Given the description of an element on the screen output the (x, y) to click on. 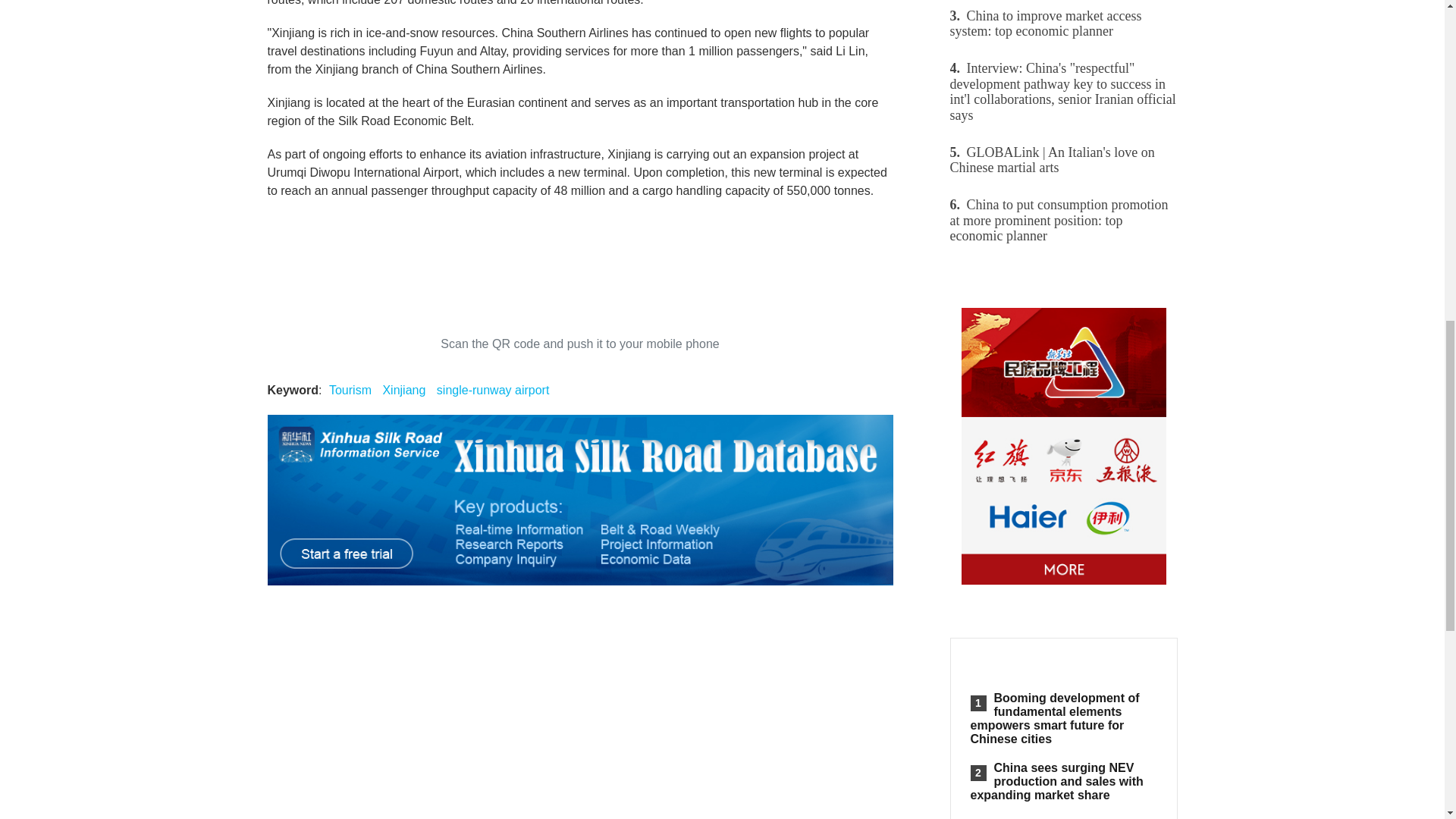
China to improve market access system: top economic planner (1062, 23)
